Given the description of an element on the screen output the (x, y) to click on. 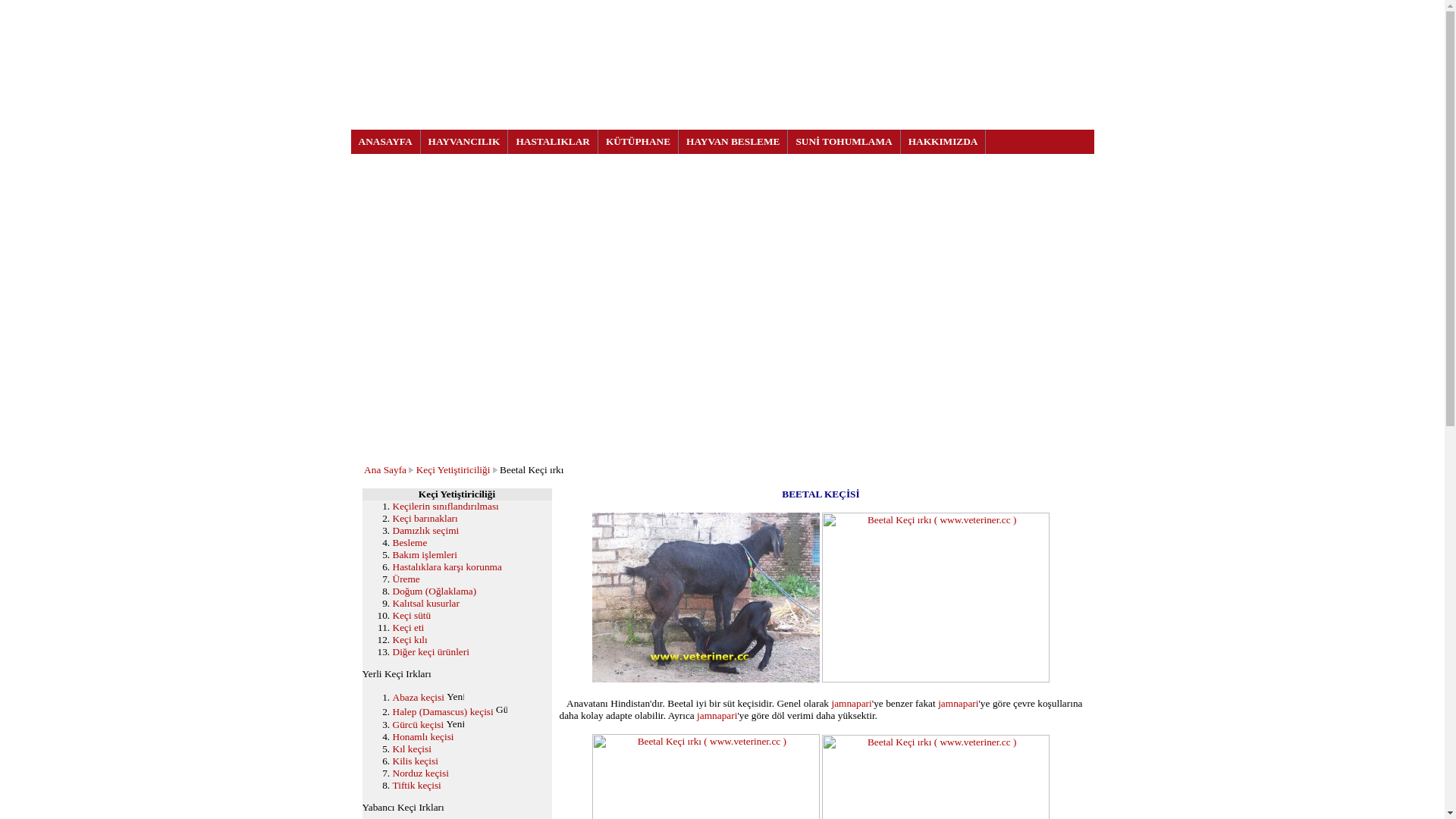
HAYVAN BESLEME Element type: text (732, 141)
ANASAYFA Element type: text (385, 141)
HAKKIMIZDA Element type: text (943, 141)
HASTALIKLAR Element type: text (553, 141)
HAYVANCILIK Element type: text (464, 141)
Besleme Element type: text (409, 542)
jamnapari Element type: text (851, 703)
Ana Sayfa Element type: text (385, 469)
jamnapari Element type: text (958, 703)
jamnapari Element type: text (716, 715)
